Given the description of an element on the screen output the (x, y) to click on. 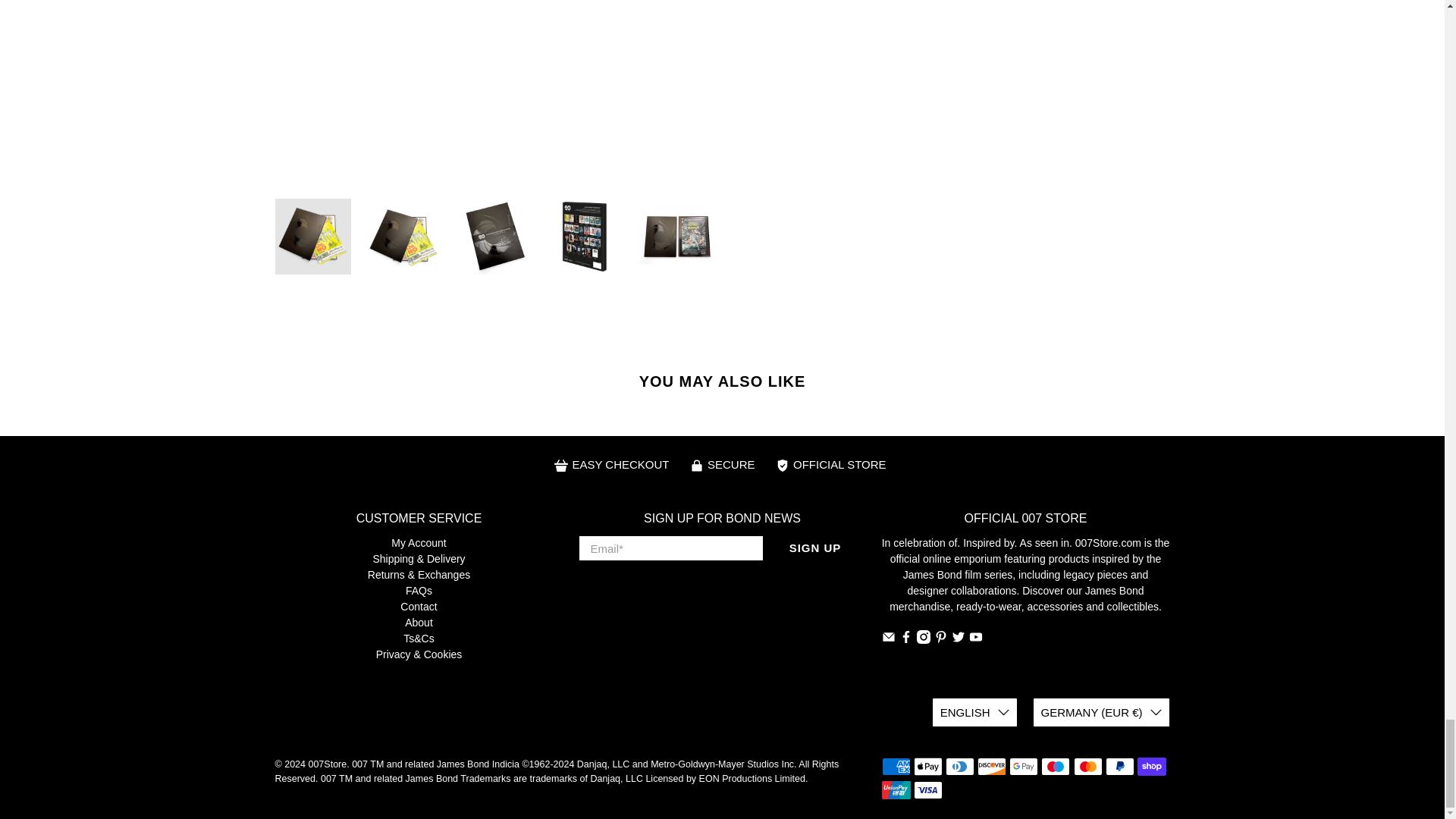
Apple Pay (928, 766)
Discover (991, 766)
American Express (895, 766)
Diners Club (959, 766)
